Given the description of an element on the screen output the (x, y) to click on. 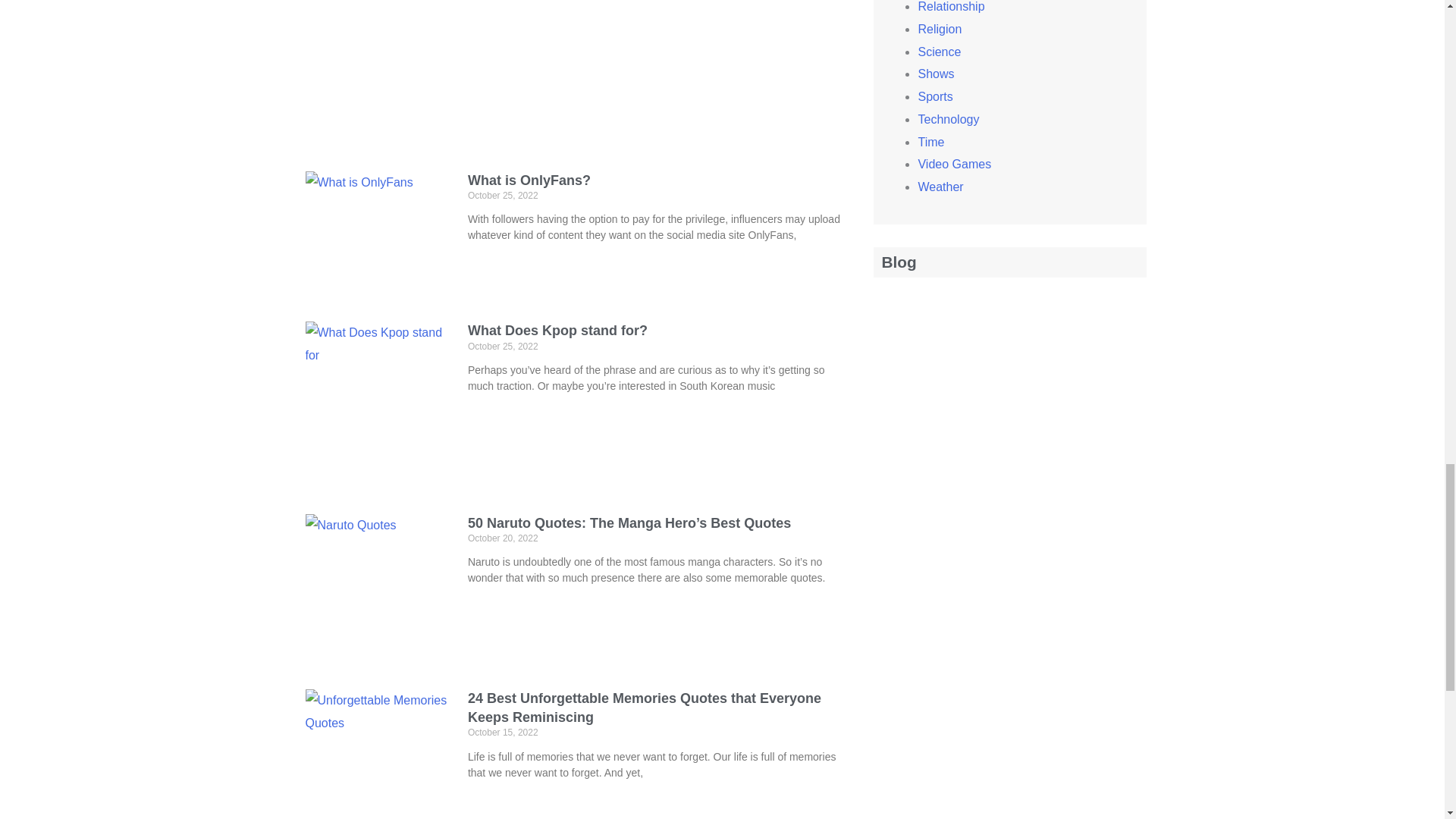
What is OnlyFans? (529, 180)
What Does Kpop stand for? (557, 330)
